Given the description of an element on the screen output the (x, y) to click on. 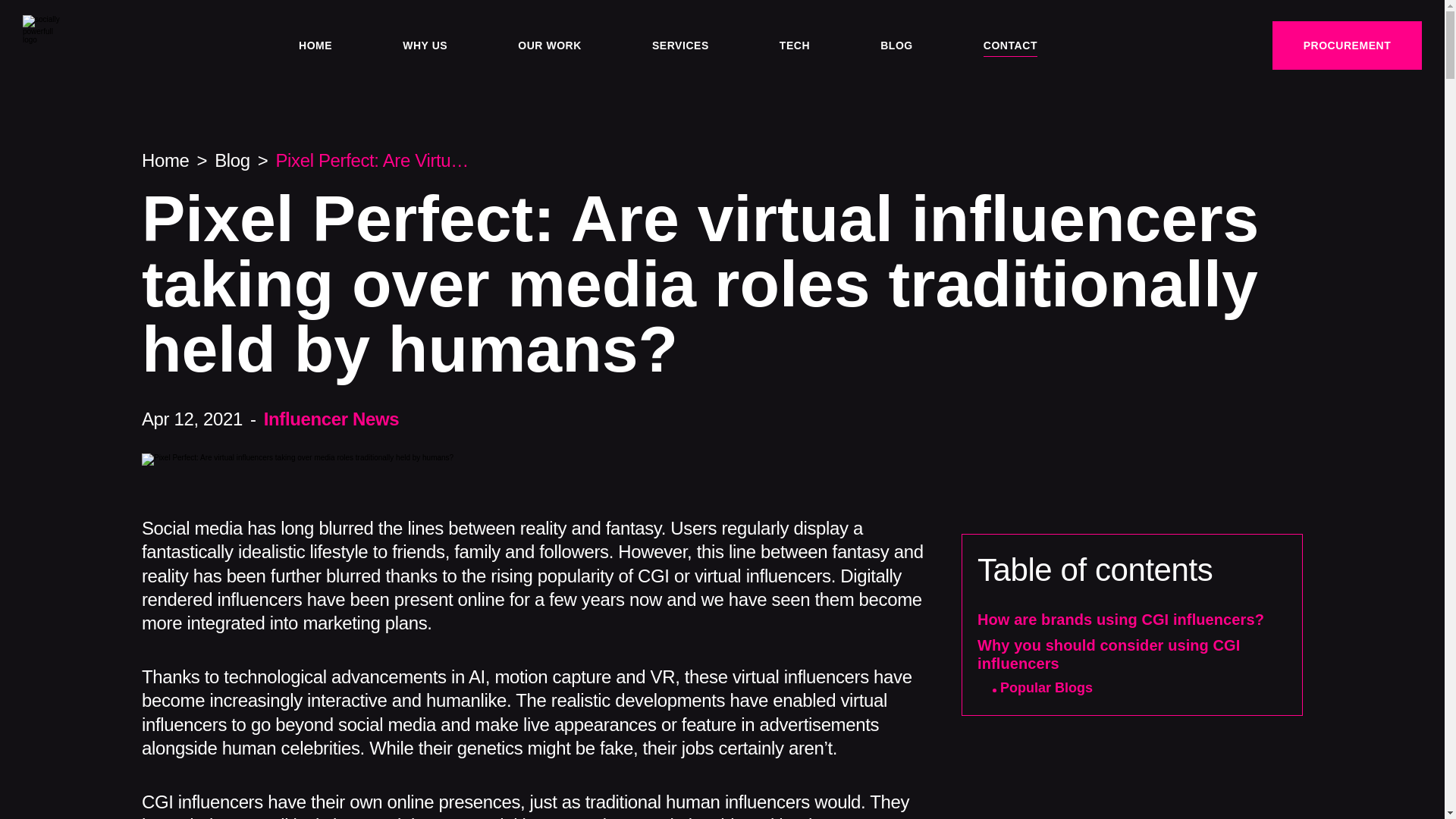
OUR WORK (549, 45)
SERVICES (680, 45)
PROCUREMENT (1347, 45)
TECH (793, 45)
CONTACT (1010, 45)
Blog (232, 159)
BLOG (896, 45)
Home (165, 159)
WHY US (424, 45)
HOME (314, 45)
